Given the description of an element on the screen output the (x, y) to click on. 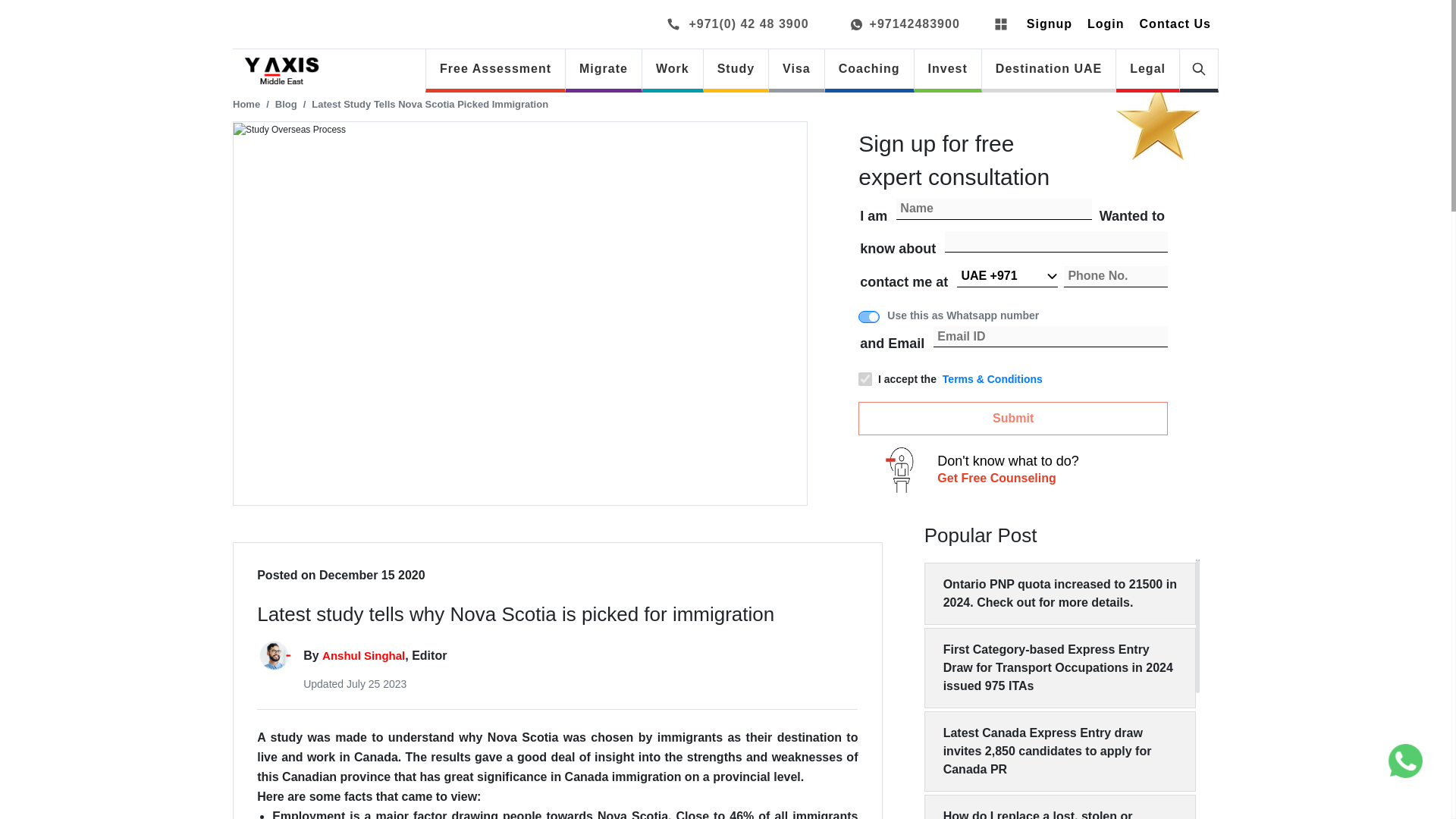
Contact Us (1175, 24)
Home (246, 103)
Invest (947, 68)
Latest Study Tells Nova Scotia Picked Immigration (429, 103)
Legal (1147, 68)
Submit (1013, 418)
Coaching (869, 68)
Visa (796, 68)
Work (672, 68)
Blog (286, 103)
Migrate (604, 68)
Free Assessment (495, 68)
Signup (1049, 24)
Y-axis Logo (281, 70)
Destination UAE (1048, 68)
